Given the description of an element on the screen output the (x, y) to click on. 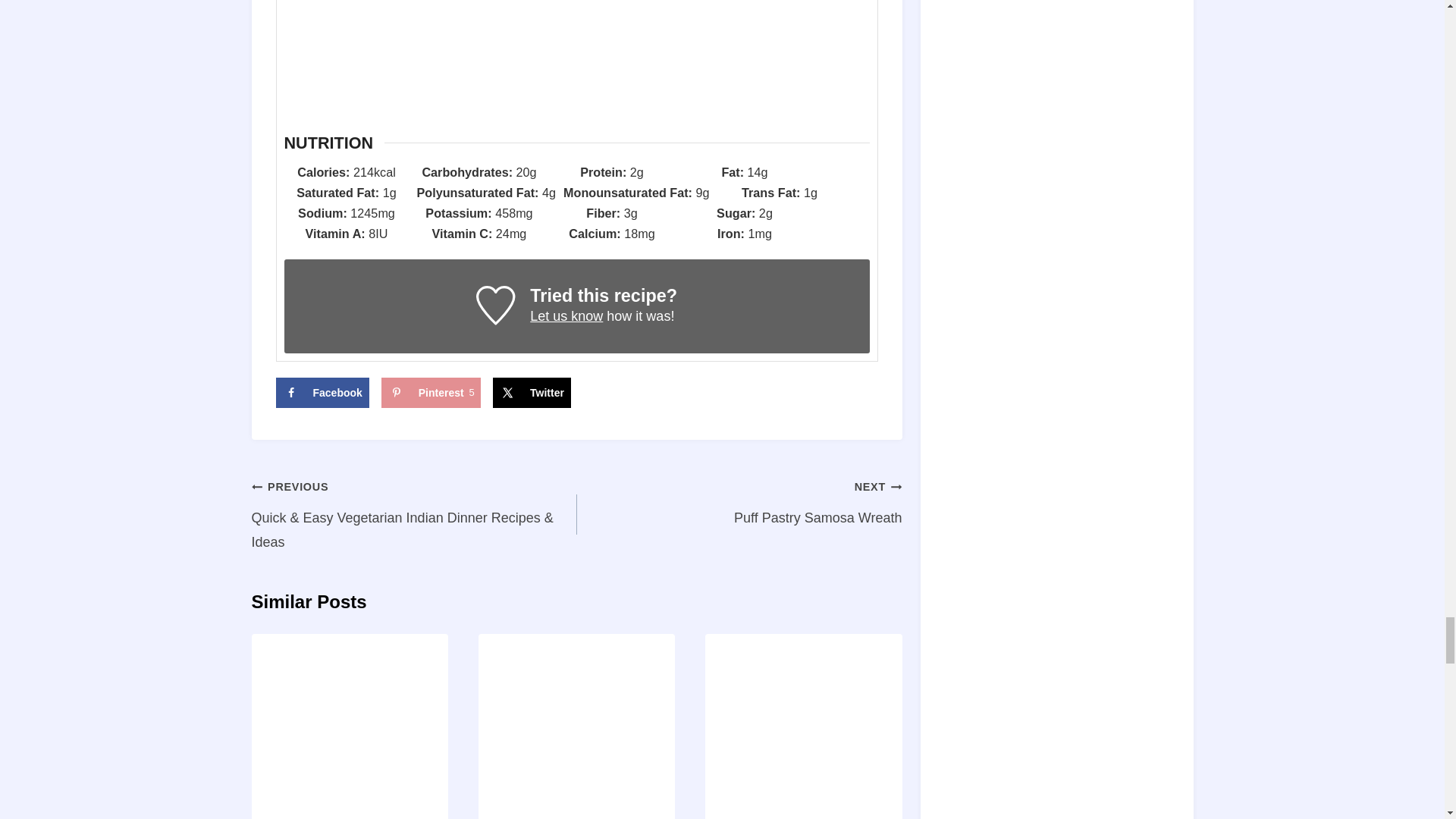
Share on X (531, 392)
Share on Facebook (322, 392)
Save to Pinterest (430, 392)
